Given the description of an element on the screen output the (x, y) to click on. 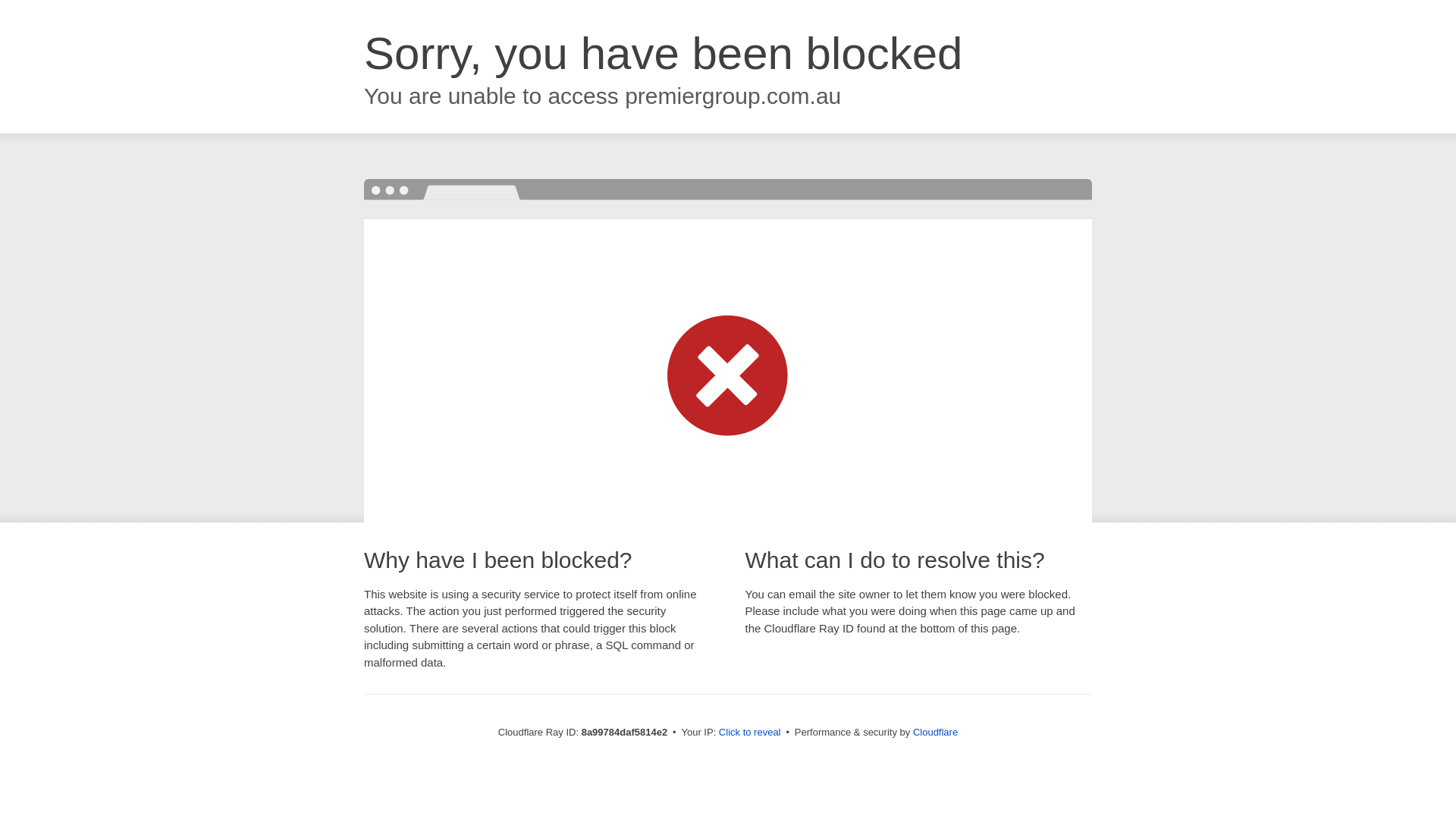
Cloudflare (935, 731)
Click to reveal (749, 732)
